Given the description of an element on the screen output the (x, y) to click on. 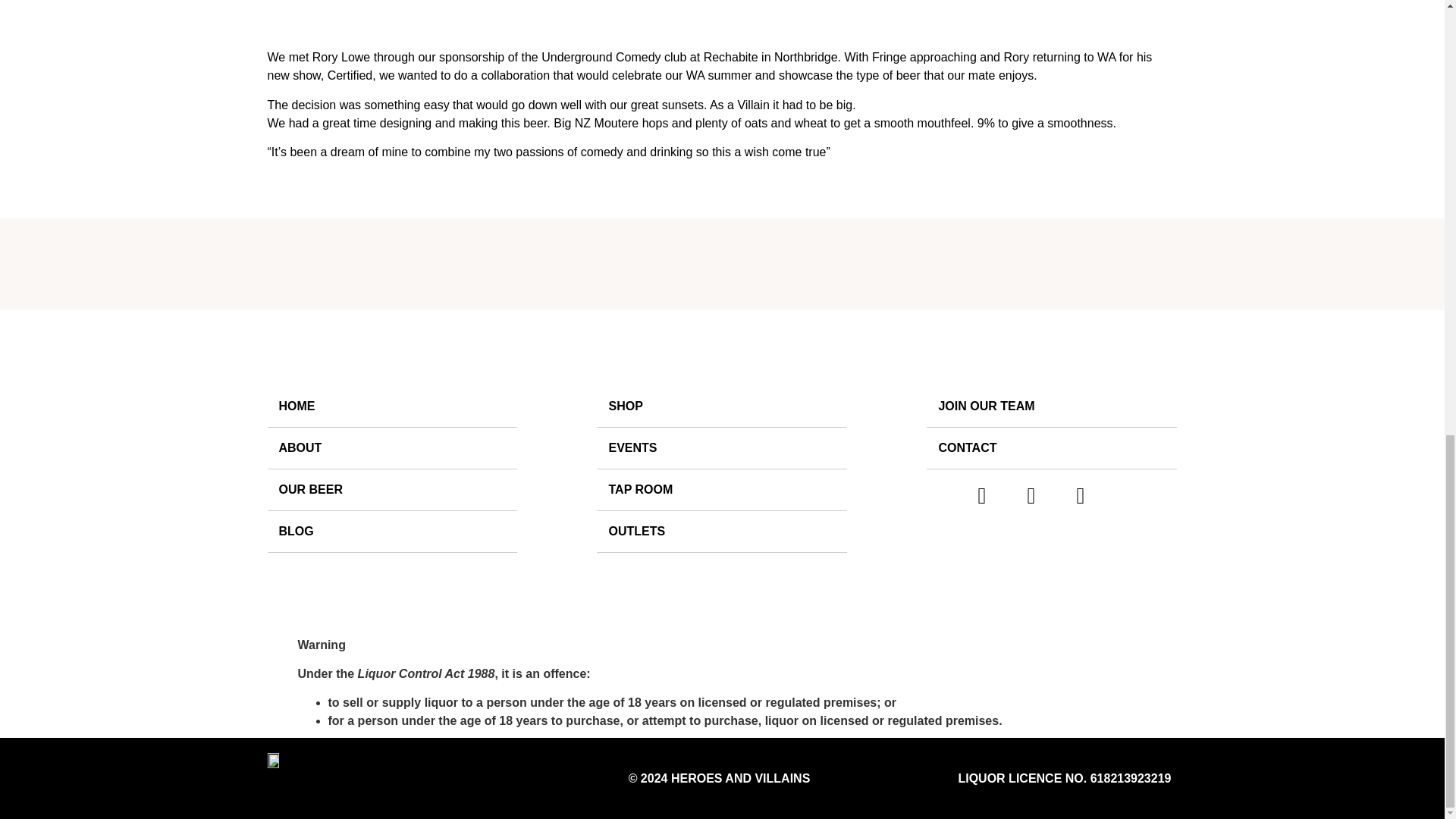
EVENTS (721, 448)
ABOUT (391, 448)
BLOG (391, 531)
HOME (391, 406)
OUR BEER (391, 490)
TAP ROOM (721, 490)
JOIN OUR TEAM (1051, 406)
CONTACT (1051, 448)
OUTLETS (721, 531)
SHOP (721, 406)
